Given the description of an element on the screen output the (x, y) to click on. 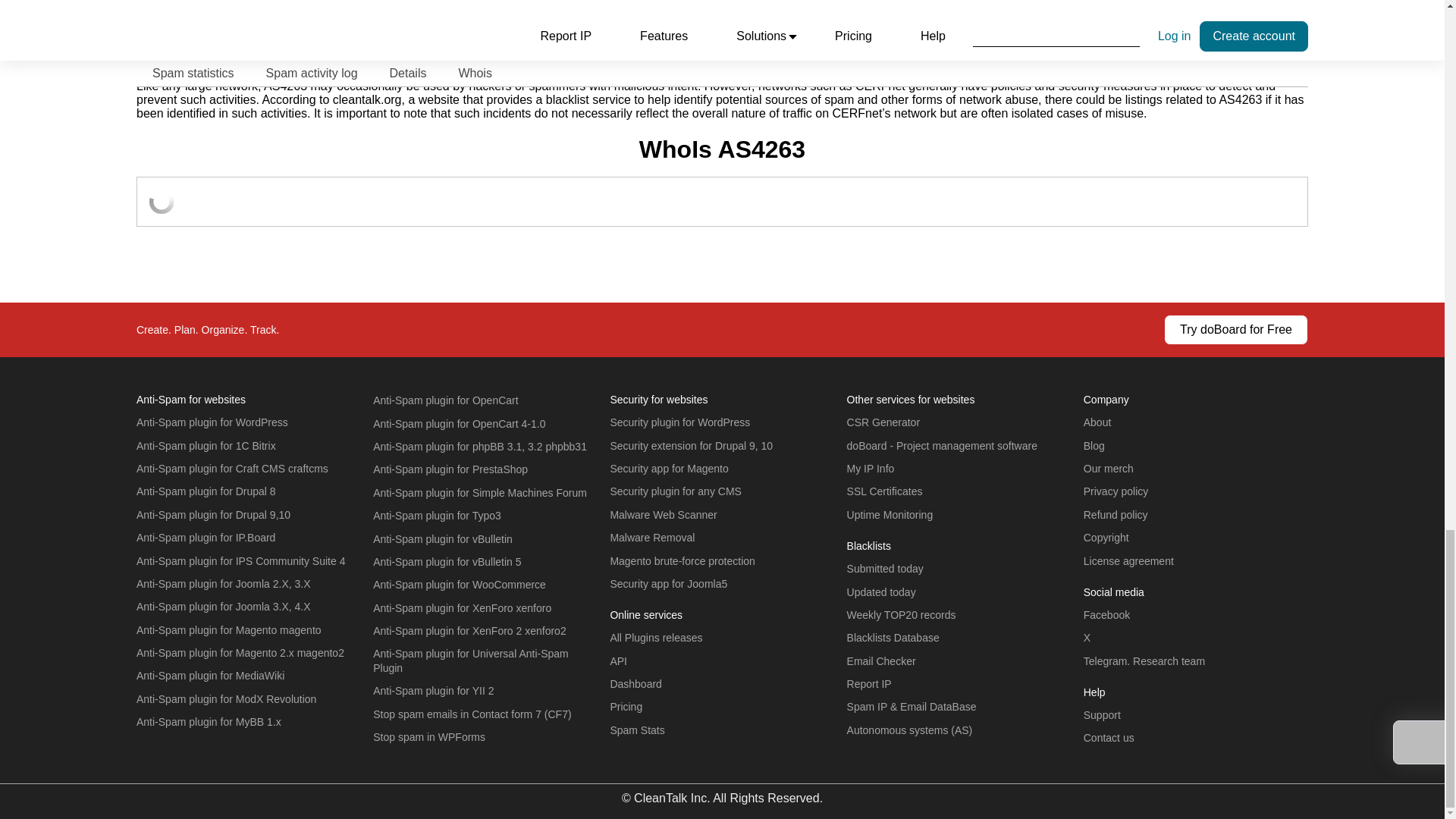
Blog (1094, 445)
Our merch (1108, 468)
Pricing (626, 706)
All Plugins releases (655, 637)
About (1097, 422)
API (618, 661)
Dashboard (636, 684)
Support (1102, 715)
Contact us (1108, 737)
loading... (161, 201)
